Given the description of an element on the screen output the (x, y) to click on. 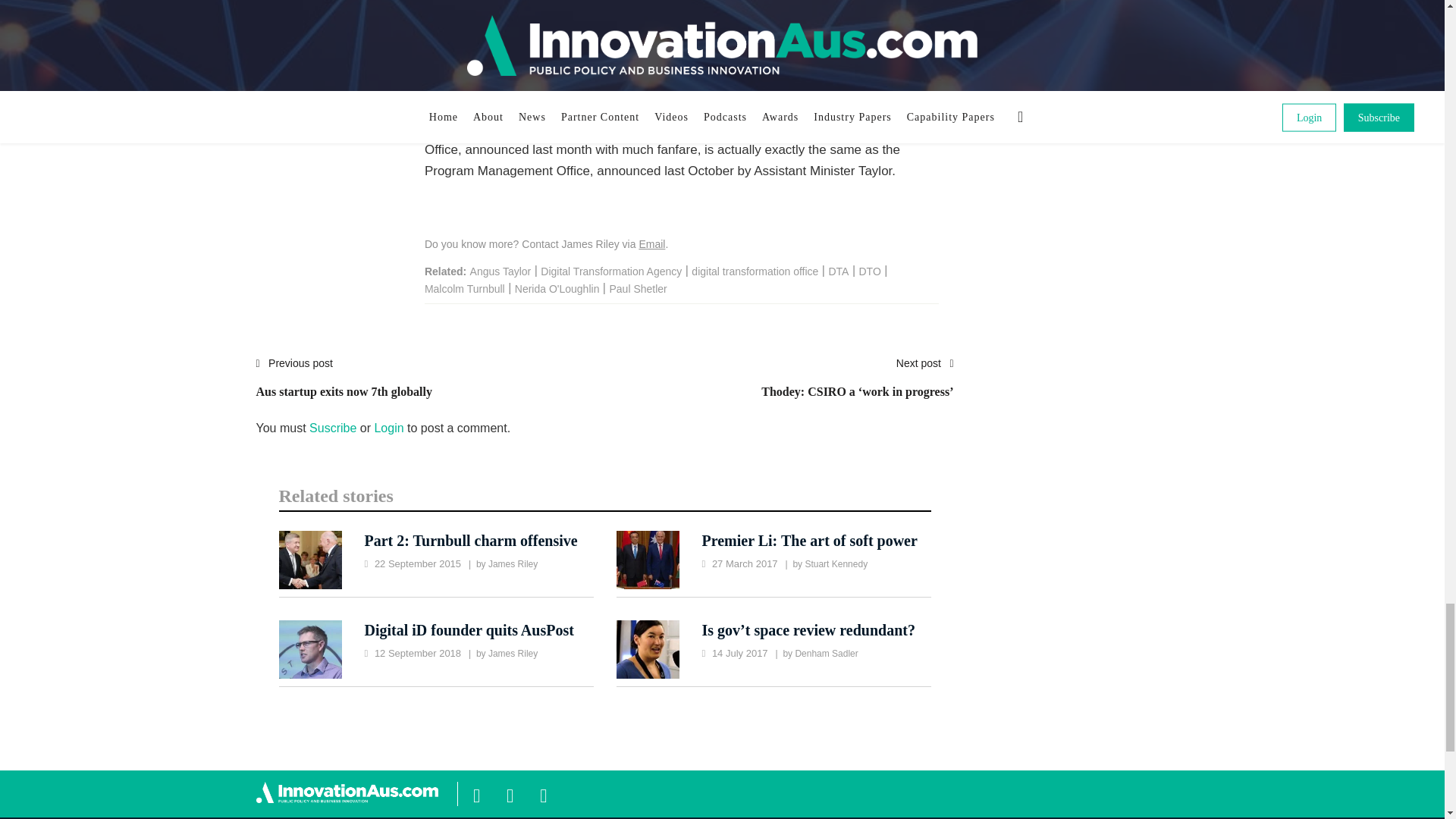
ion-social-linkedin (543, 793)
prev post (344, 385)
ion-social-facebook (476, 793)
next post (857, 385)
ion-social-twitter (510, 793)
